Given the description of an element on the screen output the (x, y) to click on. 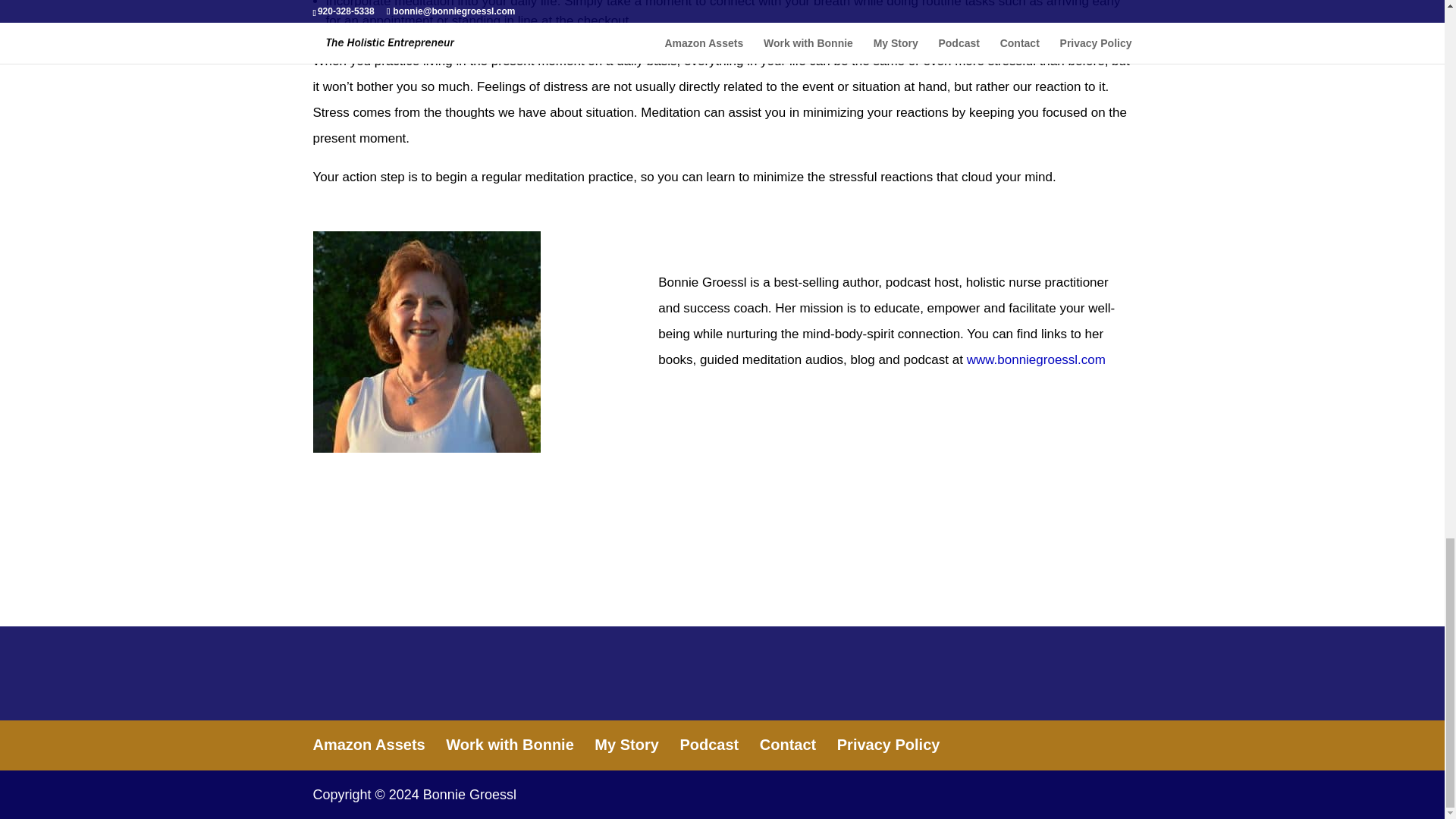
Privacy Policy (888, 744)
Podcast (708, 744)
Work with Bonnie (509, 744)
My Story (626, 744)
www.bonniegroessl.com (1035, 359)
Contact (787, 744)
Bonnie white top-2020 (426, 341)
Amazon Assets (369, 744)
